Given the description of an element on the screen output the (x, y) to click on. 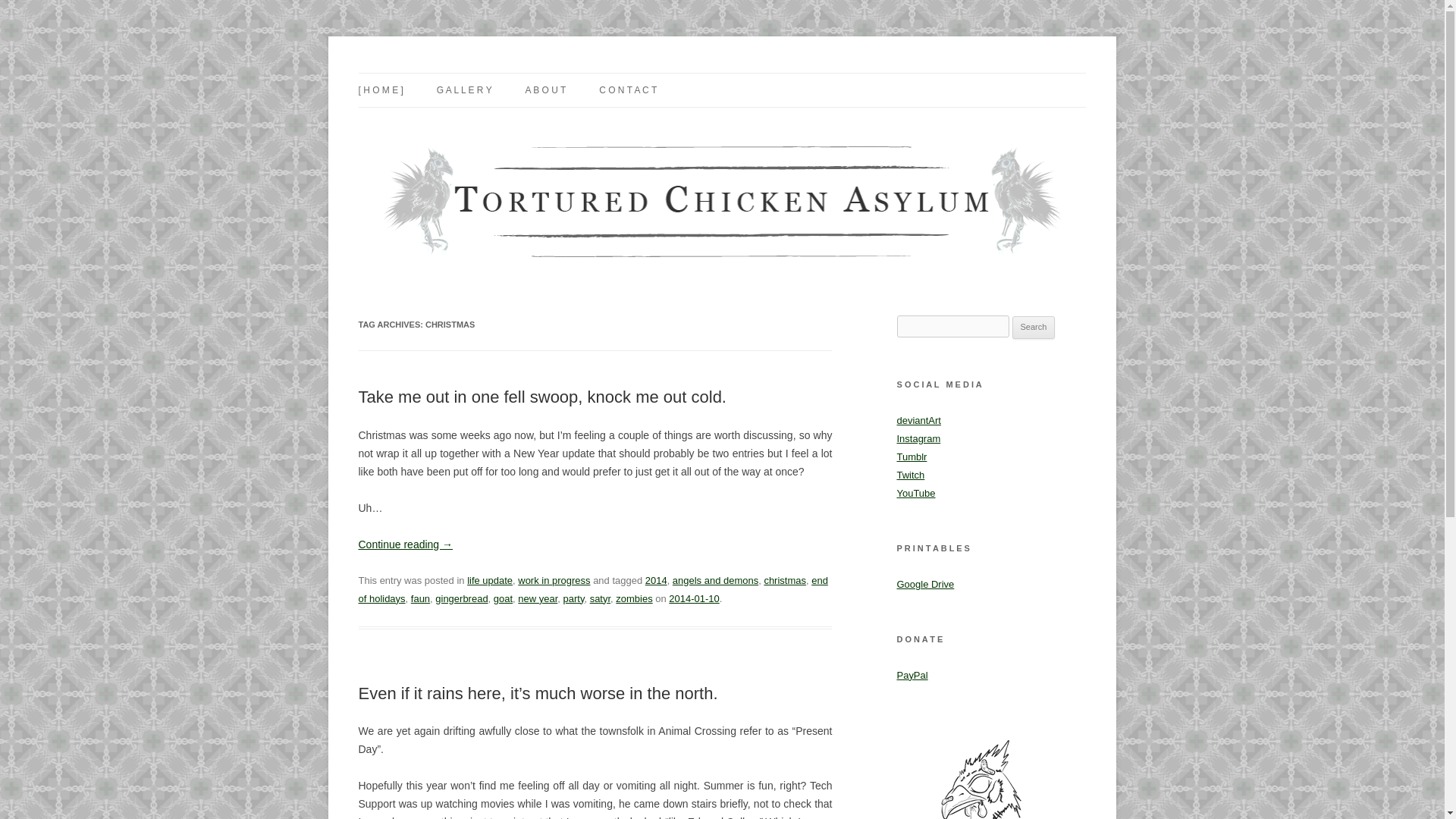
C O N T A C T (627, 90)
G A L L E R Y (464, 90)
christmas (784, 580)
Search (1033, 327)
zombies (633, 598)
work in progress (553, 580)
Tortured Chicken (438, 72)
Search (1033, 327)
gingerbread (461, 598)
goat (502, 598)
life update (489, 580)
2014-01-10 (693, 598)
